Given the description of an element on the screen output the (x, y) to click on. 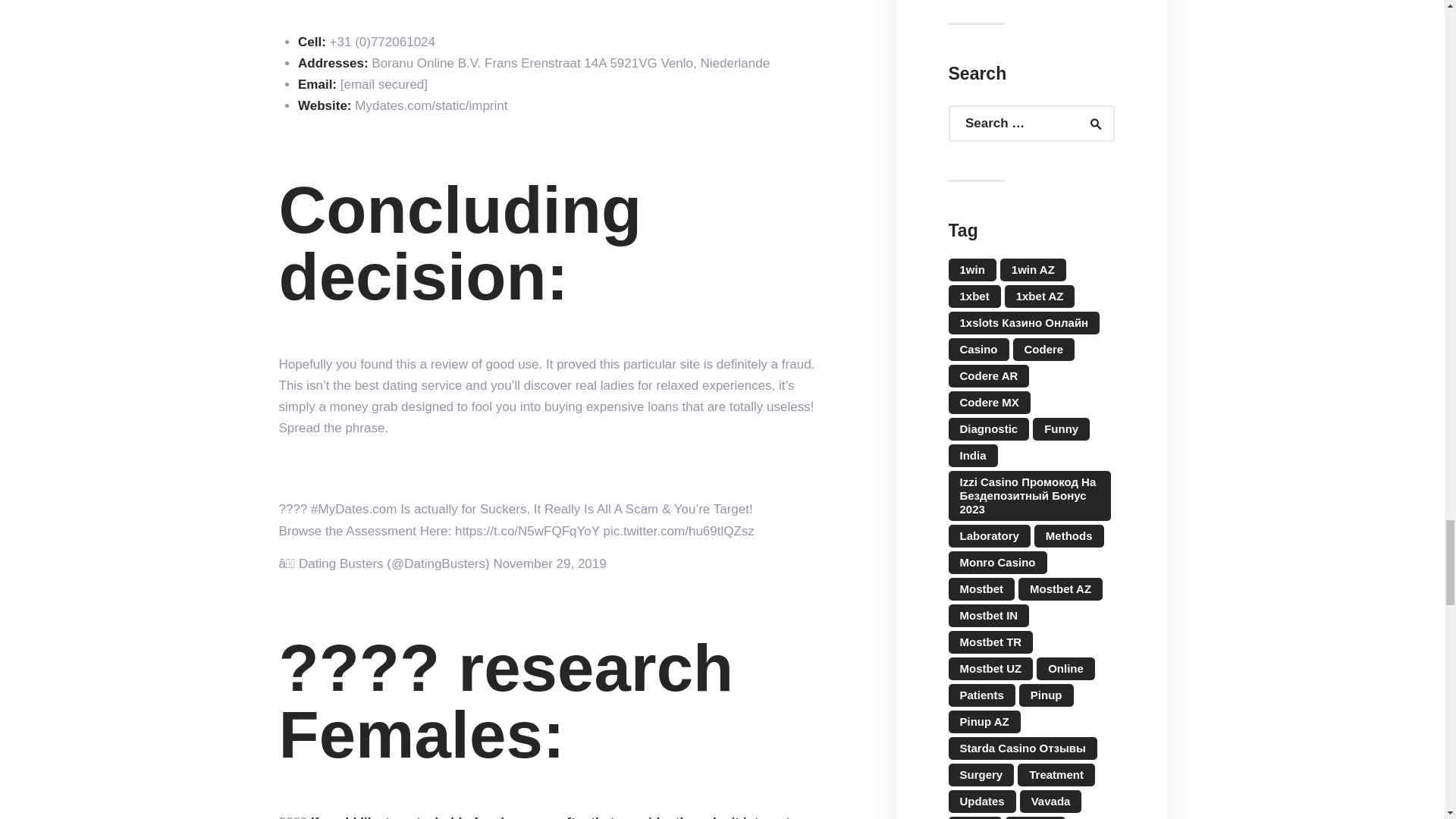
Search (1088, 123)
Search (1088, 123)
